Given the description of an element on the screen output the (x, y) to click on. 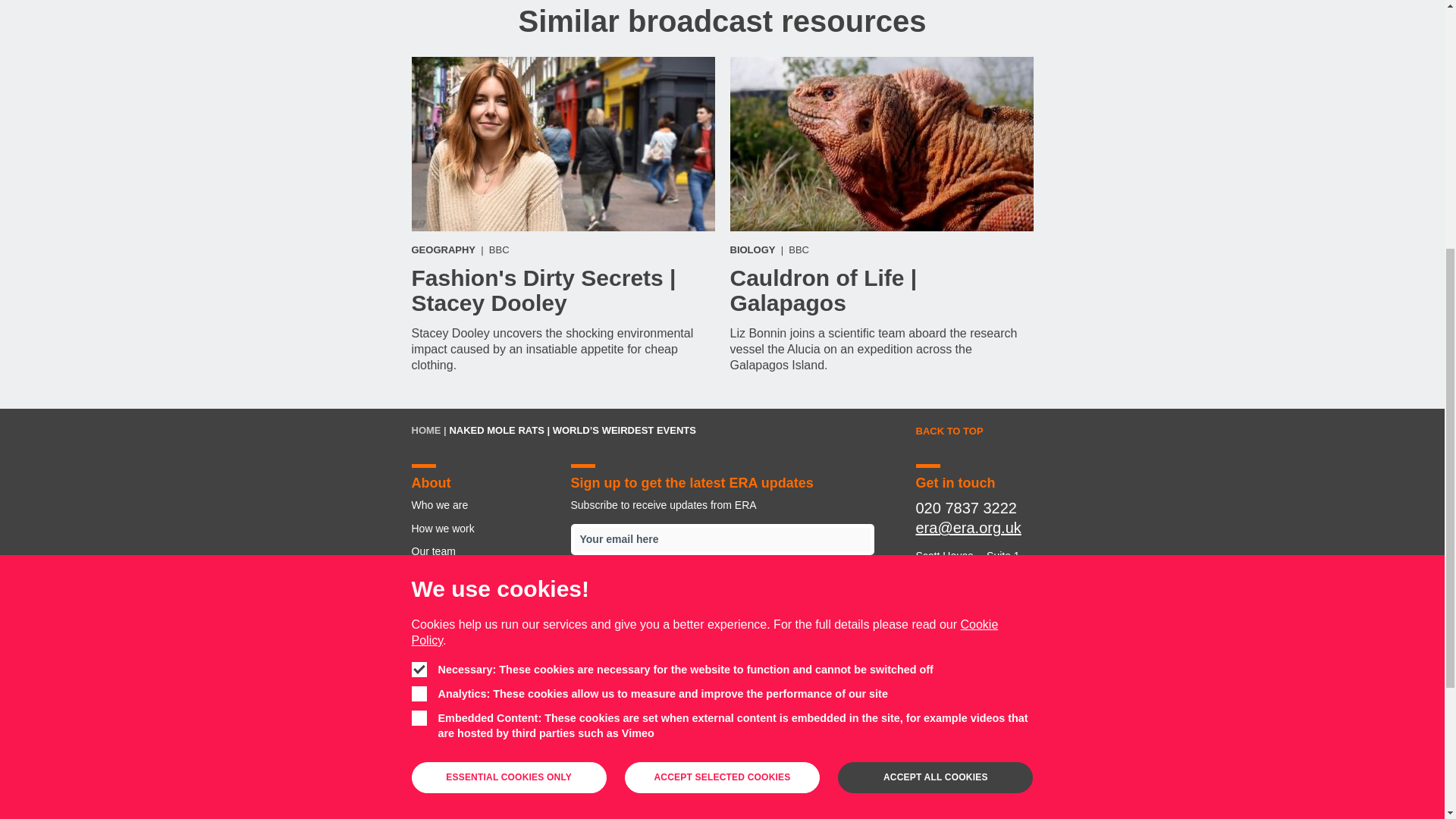
privacy policy (698, 631)
Our team (556, 757)
Partner organisations (482, 620)
Sign Up (722, 584)
Governance (482, 597)
Who we are (435, 757)
Organisations we represent (641, 757)
Our team (482, 550)
HOME (425, 430)
Updates (883, 757)
